Given the description of an element on the screen output the (x, y) to click on. 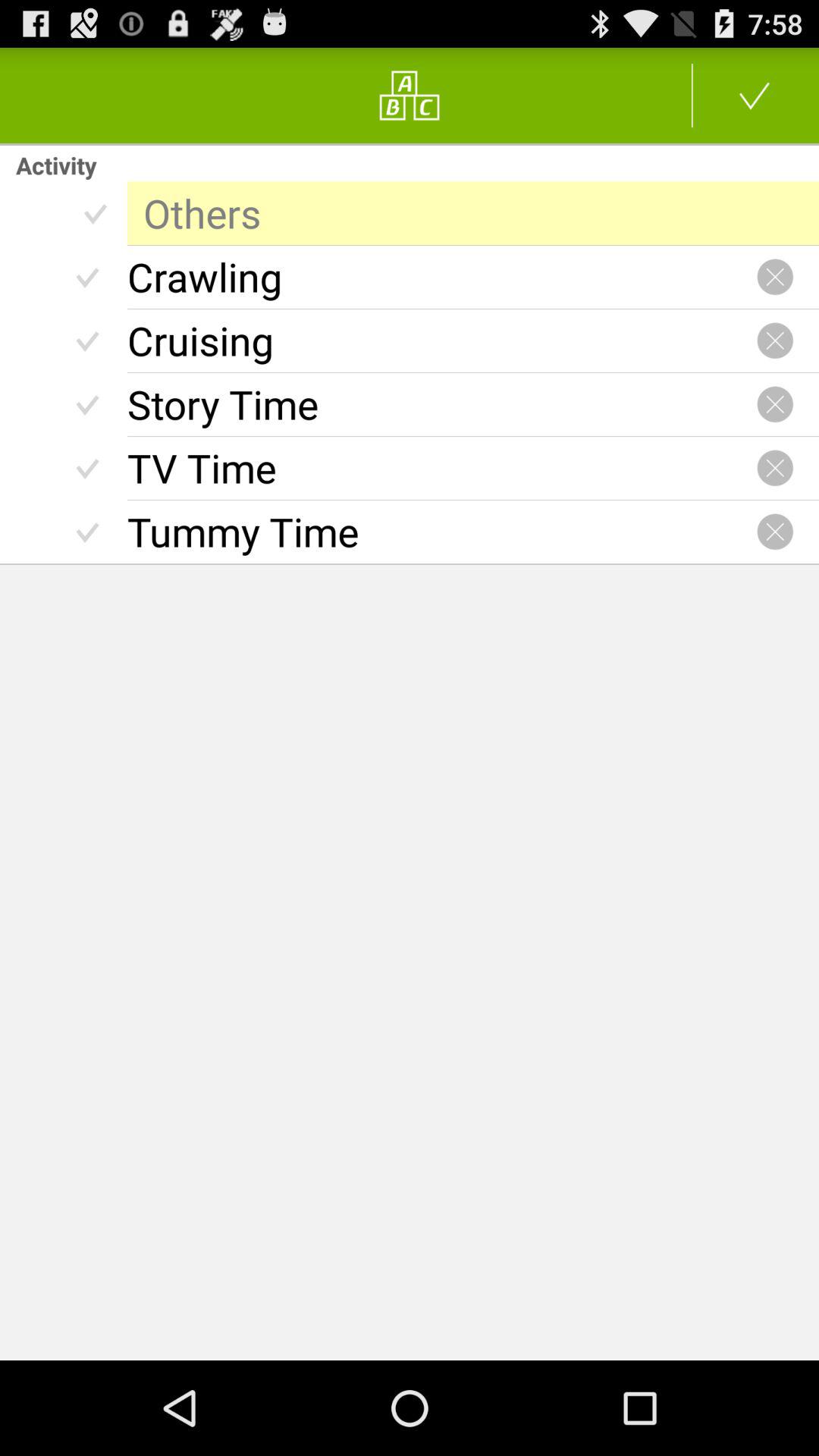
close the activity (775, 531)
